Given the description of an element on the screen output the (x, y) to click on. 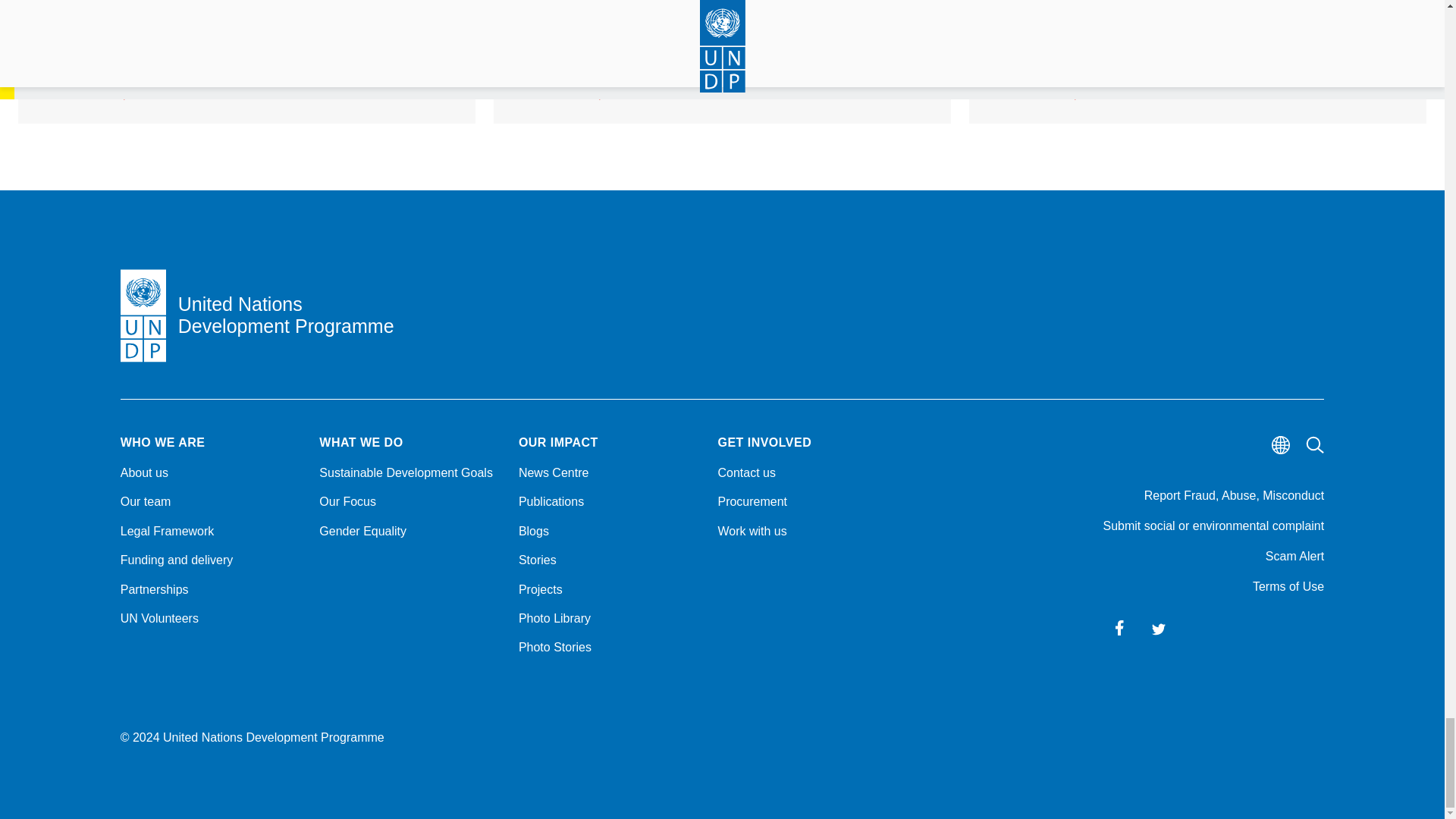
Facebook (1119, 627)
Legal Framework (210, 531)
Exposure (1315, 627)
Youtube (1237, 627)
Twitter (1158, 627)
About us (210, 473)
Flickr (1276, 627)
Our team (210, 501)
WHO WE ARE (210, 442)
Instagram (1198, 627)
